Given the description of an element on the screen output the (x, y) to click on. 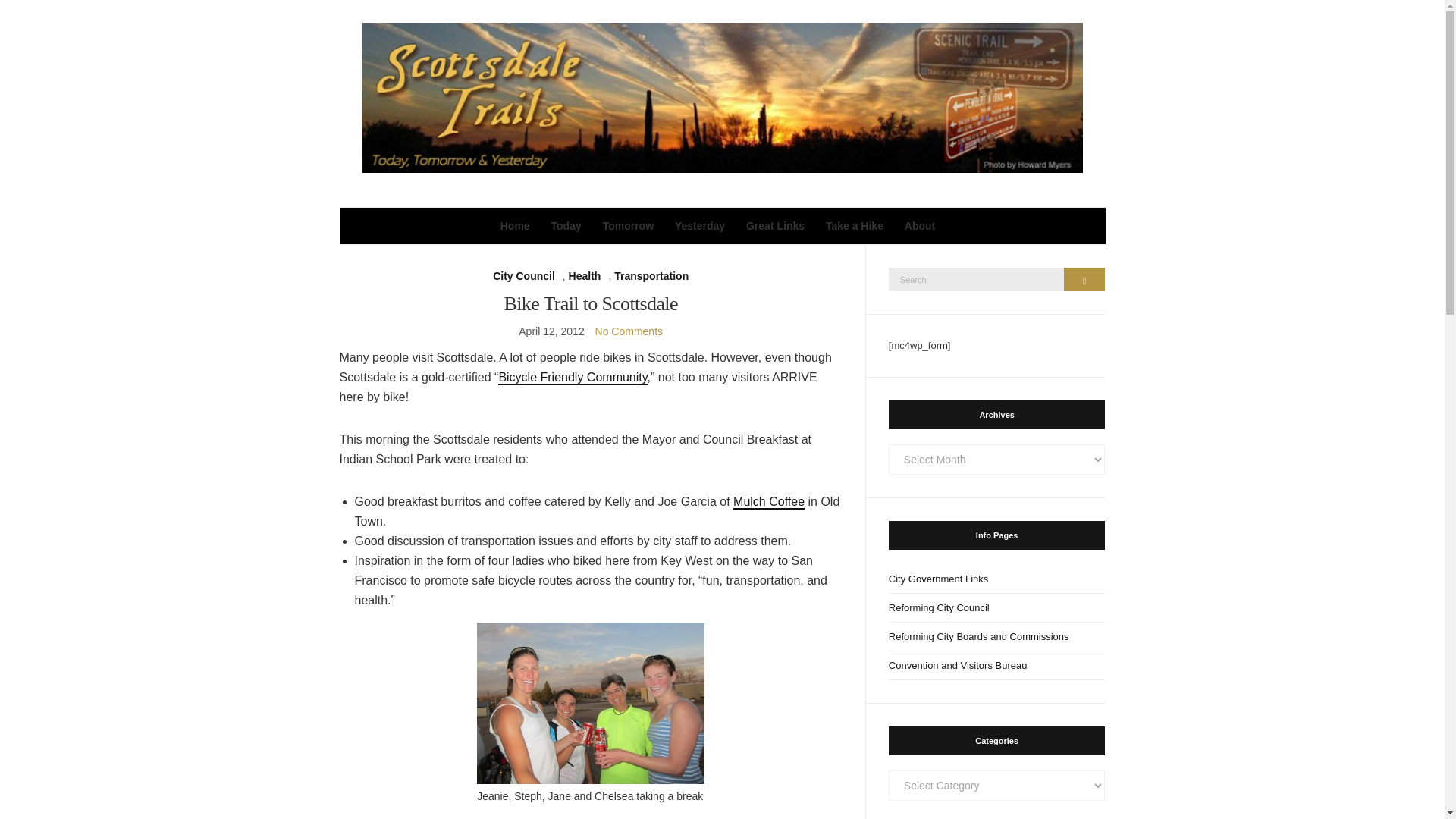
Tomorrow (627, 226)
Health (585, 276)
Mulch Coffee (769, 502)
RASR (590, 702)
Home (514, 226)
About (919, 226)
Bicycle Friendly Community (571, 377)
Great Links (775, 226)
City Council (523, 276)
No Comments (628, 331)
